Given the description of an element on the screen output the (x, y) to click on. 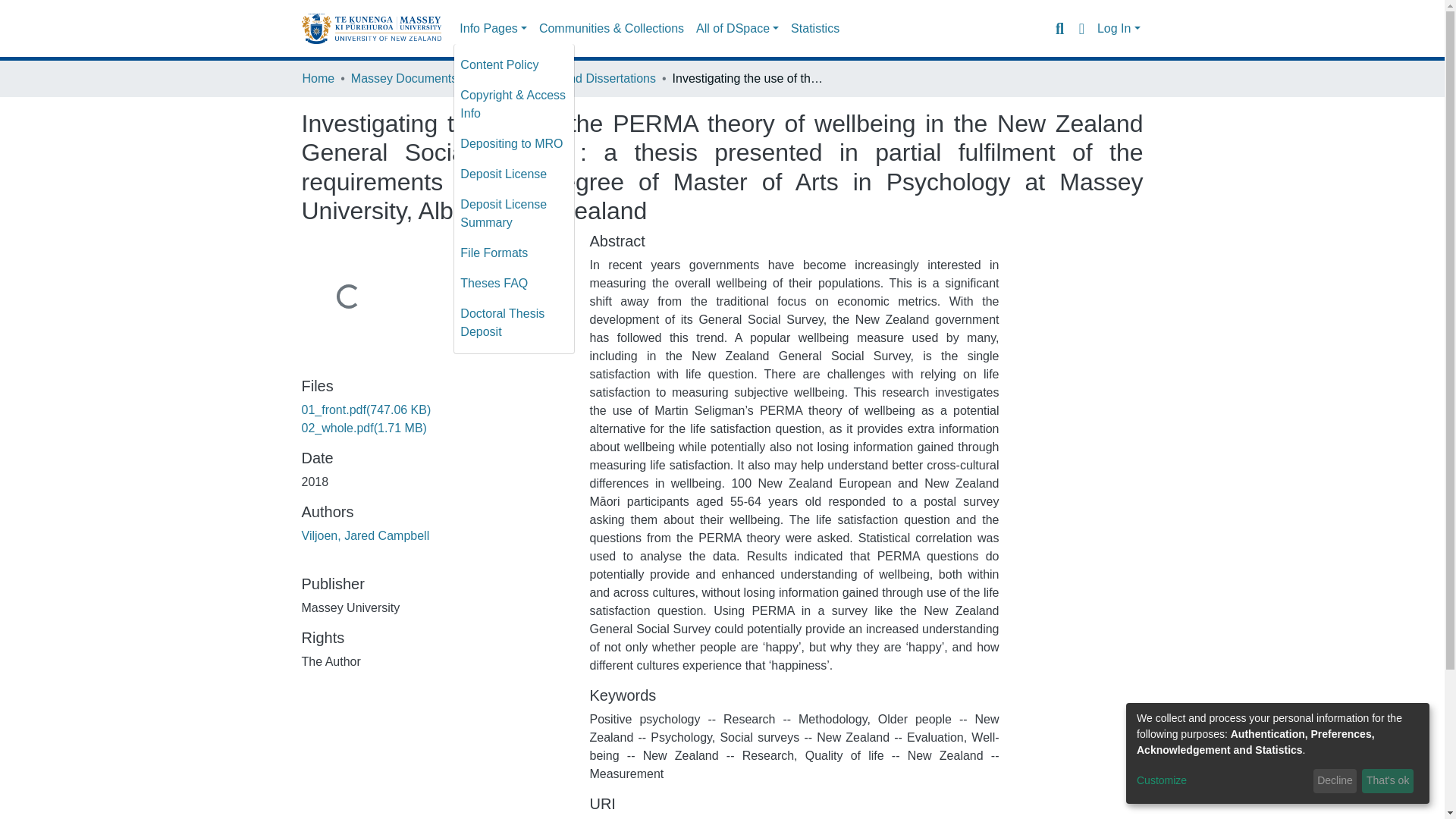
Log In (1118, 28)
Home (317, 78)
File Formats (513, 253)
Info Pages (492, 28)
Deposit License Summary (513, 213)
Massey Documents by Type (426, 78)
Viljoen, Jared Campbell (365, 535)
Doctoral Thesis Deposit (513, 322)
Statistics (814, 28)
All of DSpace (737, 28)
